Given the description of an element on the screen output the (x, y) to click on. 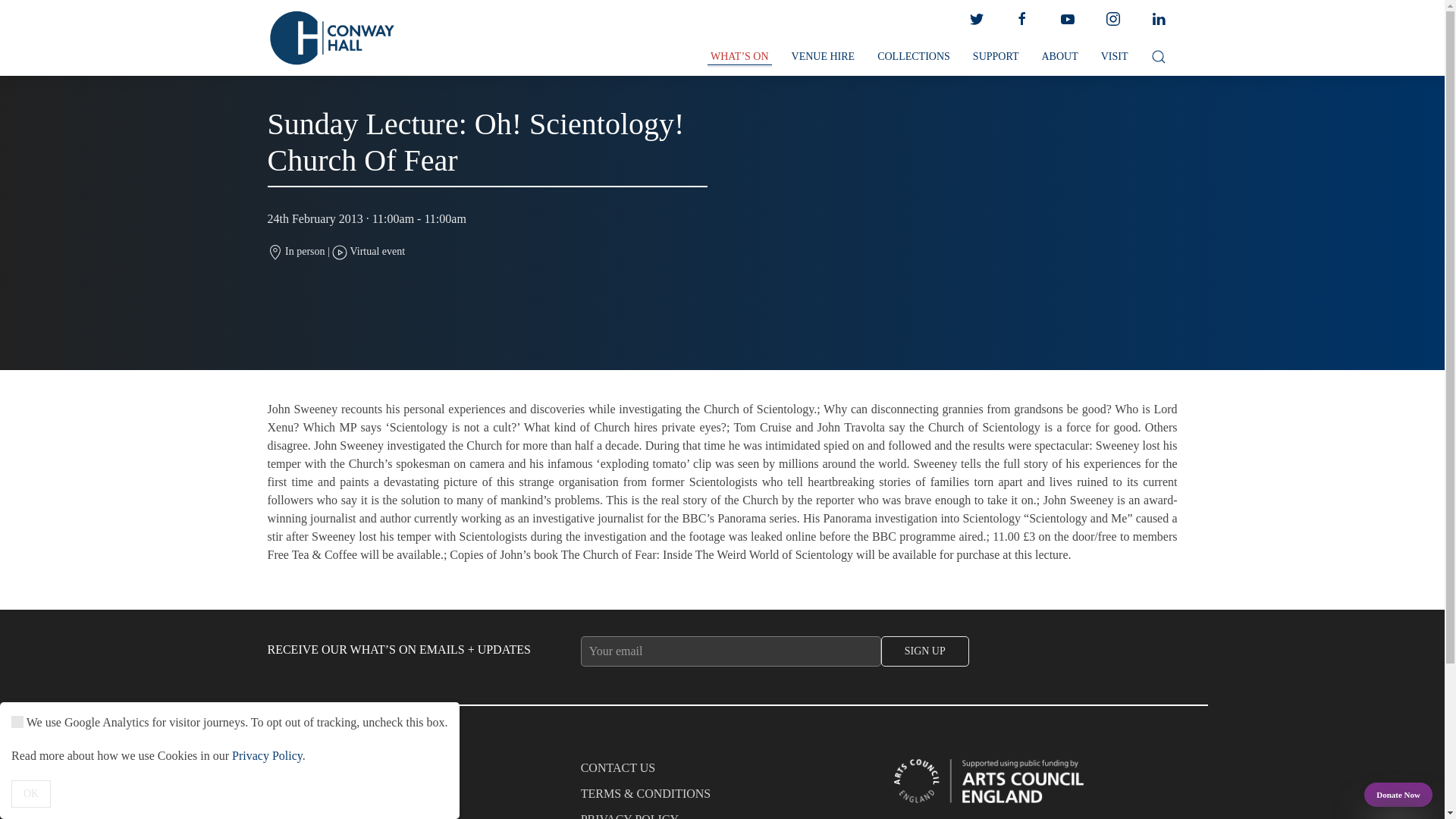
CONTACT US (722, 771)
Sign Up (924, 651)
COLLECTIONS (913, 56)
Twitter (975, 19)
Facebook (1022, 19)
VISIT (1114, 56)
instagram (1112, 19)
OK (30, 793)
Privacy Policy (266, 755)
on (17, 721)
